Given the description of an element on the screen output the (x, y) to click on. 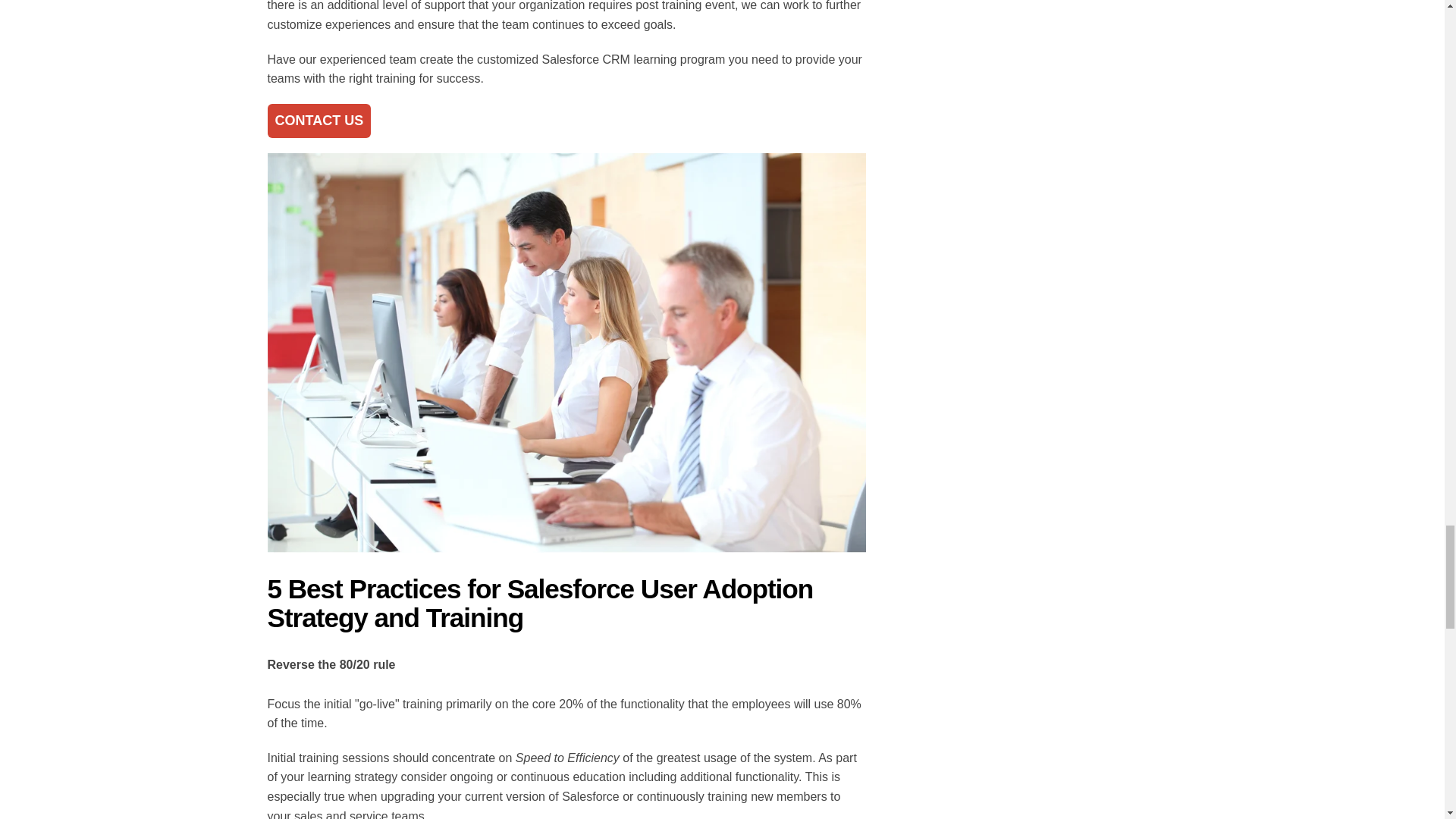
CONTACT US (318, 121)
